Given the description of an element on the screen output the (x, y) to click on. 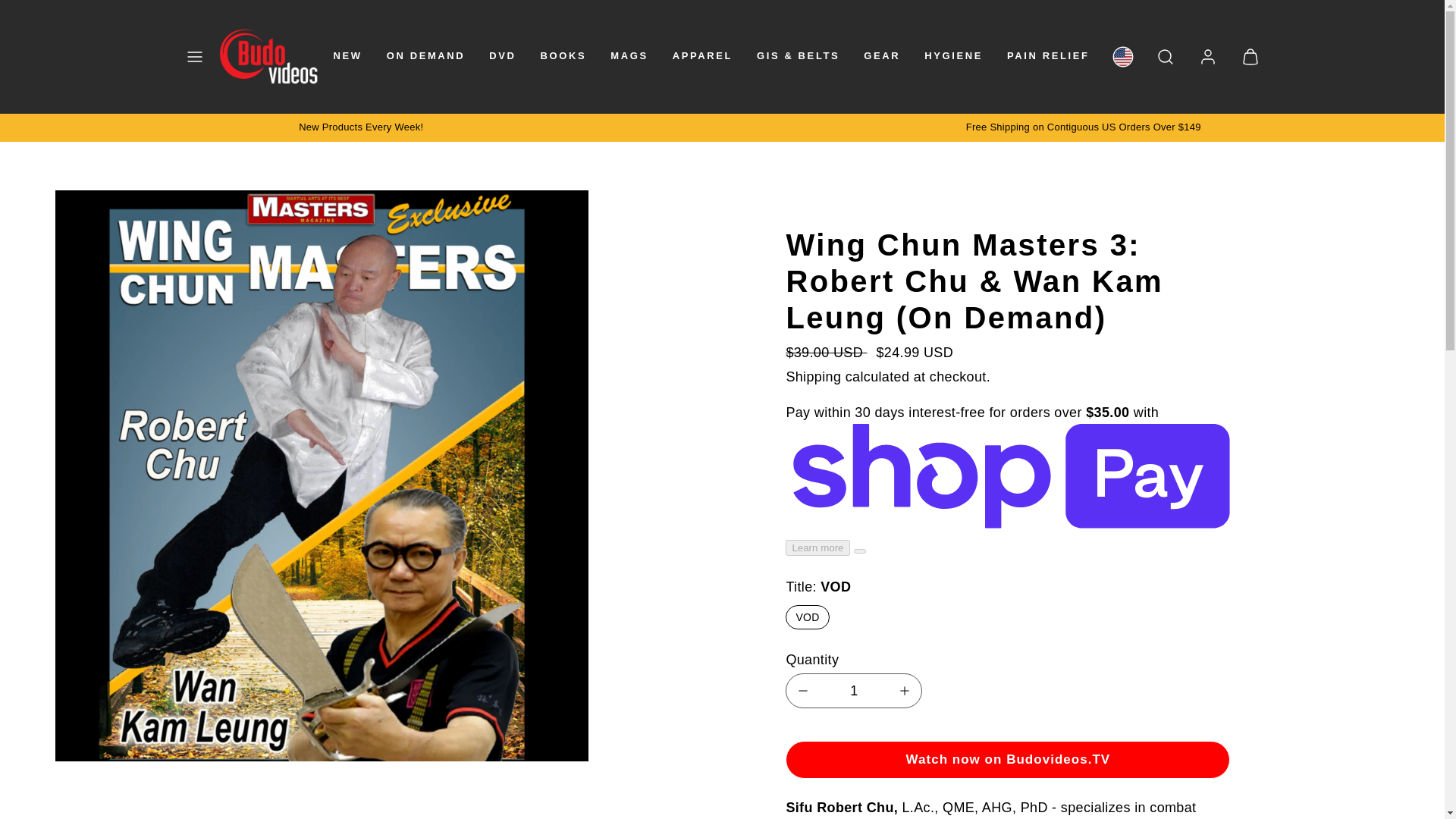
GEAR (881, 56)
APPAREL (702, 56)
HYGIENE (953, 56)
1 (853, 690)
ACCOUNT (1207, 56)
MAGS (628, 56)
MENU (194, 56)
PAIN RELIEF (1048, 56)
ON DEMAND (425, 56)
BOOKS (563, 56)
NEW (347, 56)
SEARCH (1164, 56)
DVD (502, 56)
